Given the description of an element on the screen output the (x, y) to click on. 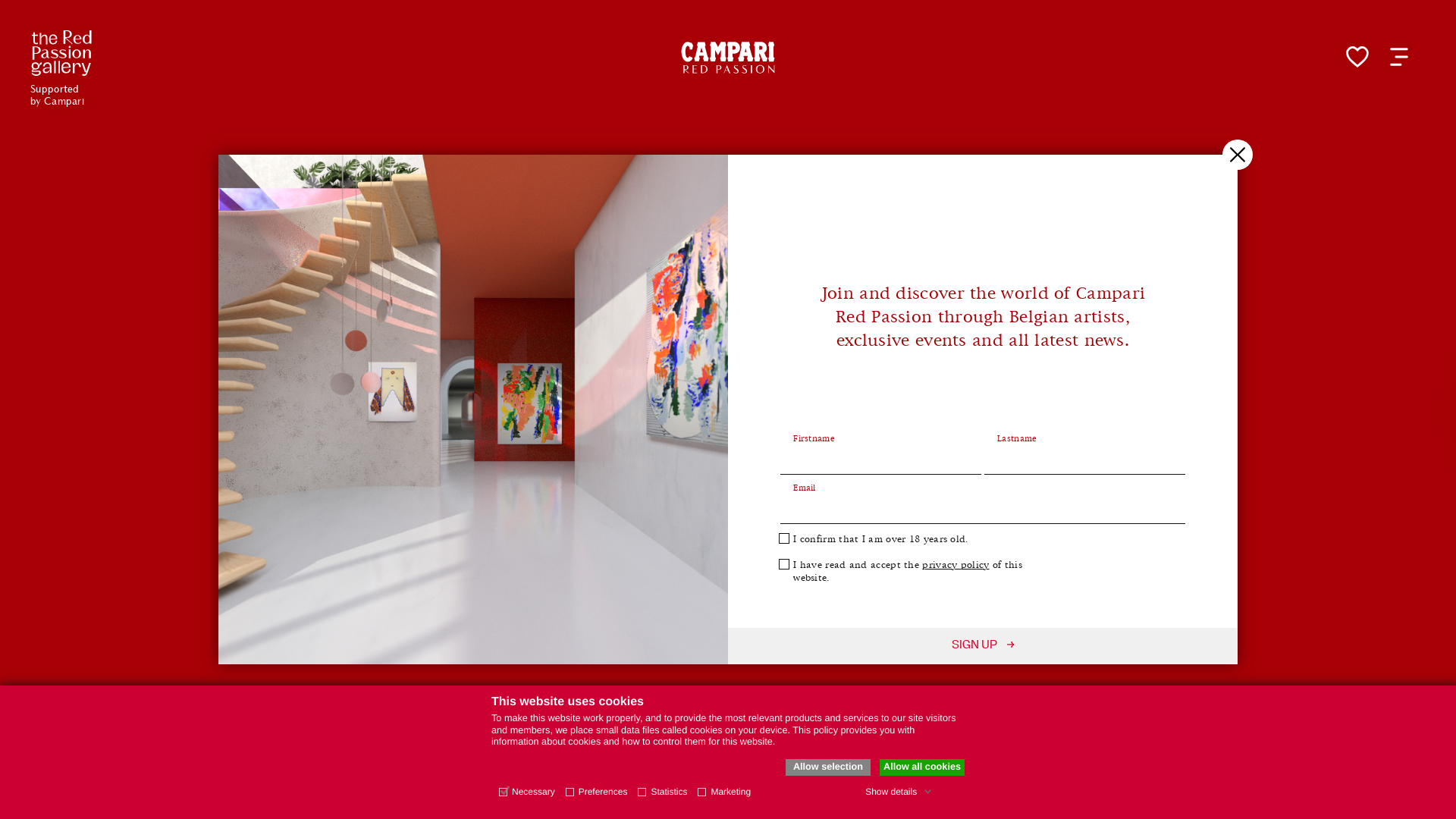
Allow selection Element type: text (827, 767)
Show details Element type: text (898, 791)
Supported by Campari Element type: text (61, 52)
SIGN UP Element type: text (982, 645)
privacy policy Element type: text (955, 564)
My favorite page Element type: hover (1357, 56)
Open menu Element type: hover (1398, 56)
Allow all cookies Element type: text (921, 767)
